Given the description of an element on the screen output the (x, y) to click on. 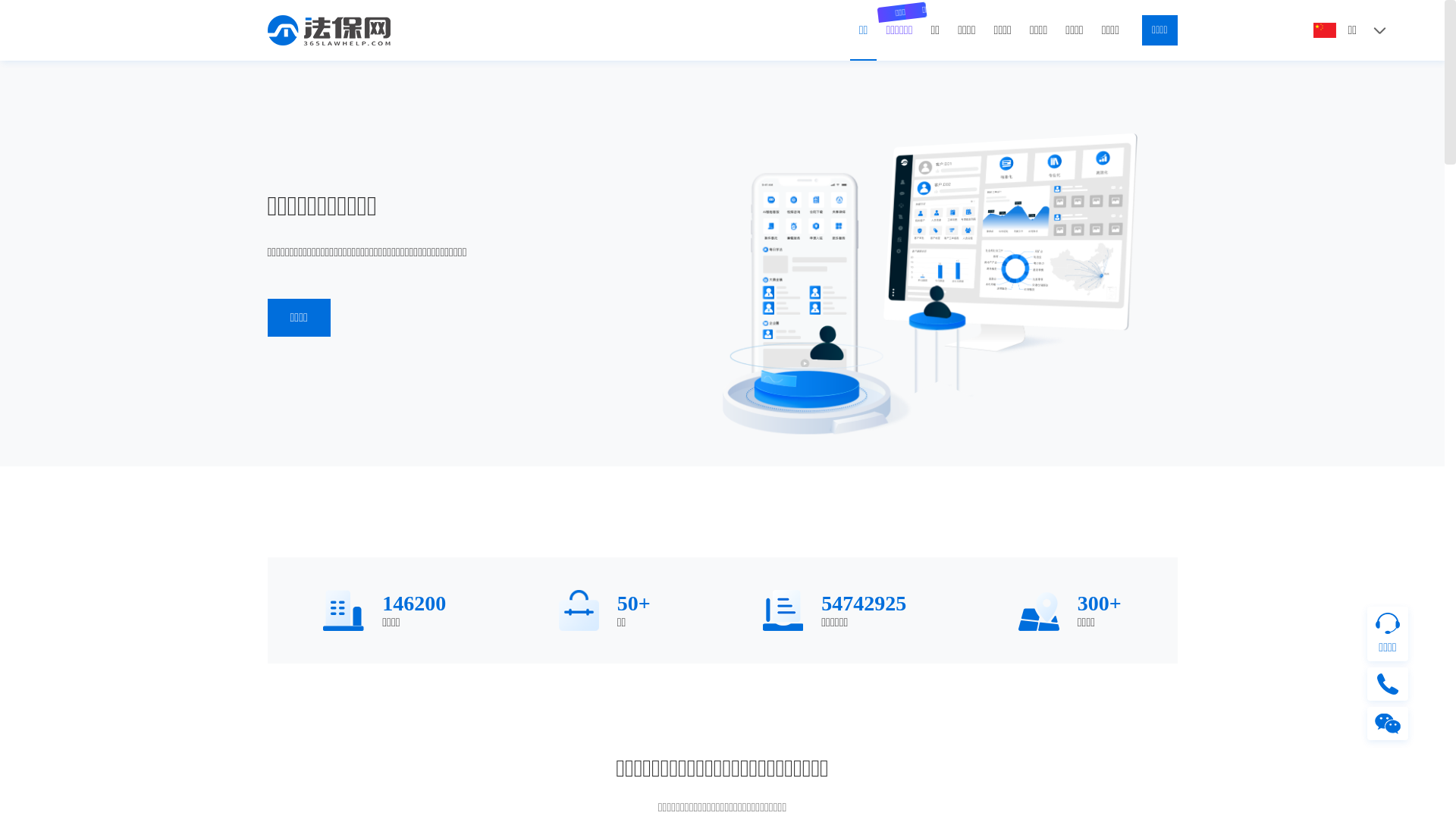
0 Element type: text (10, 30)
